Given the description of an element on the screen output the (x, y) to click on. 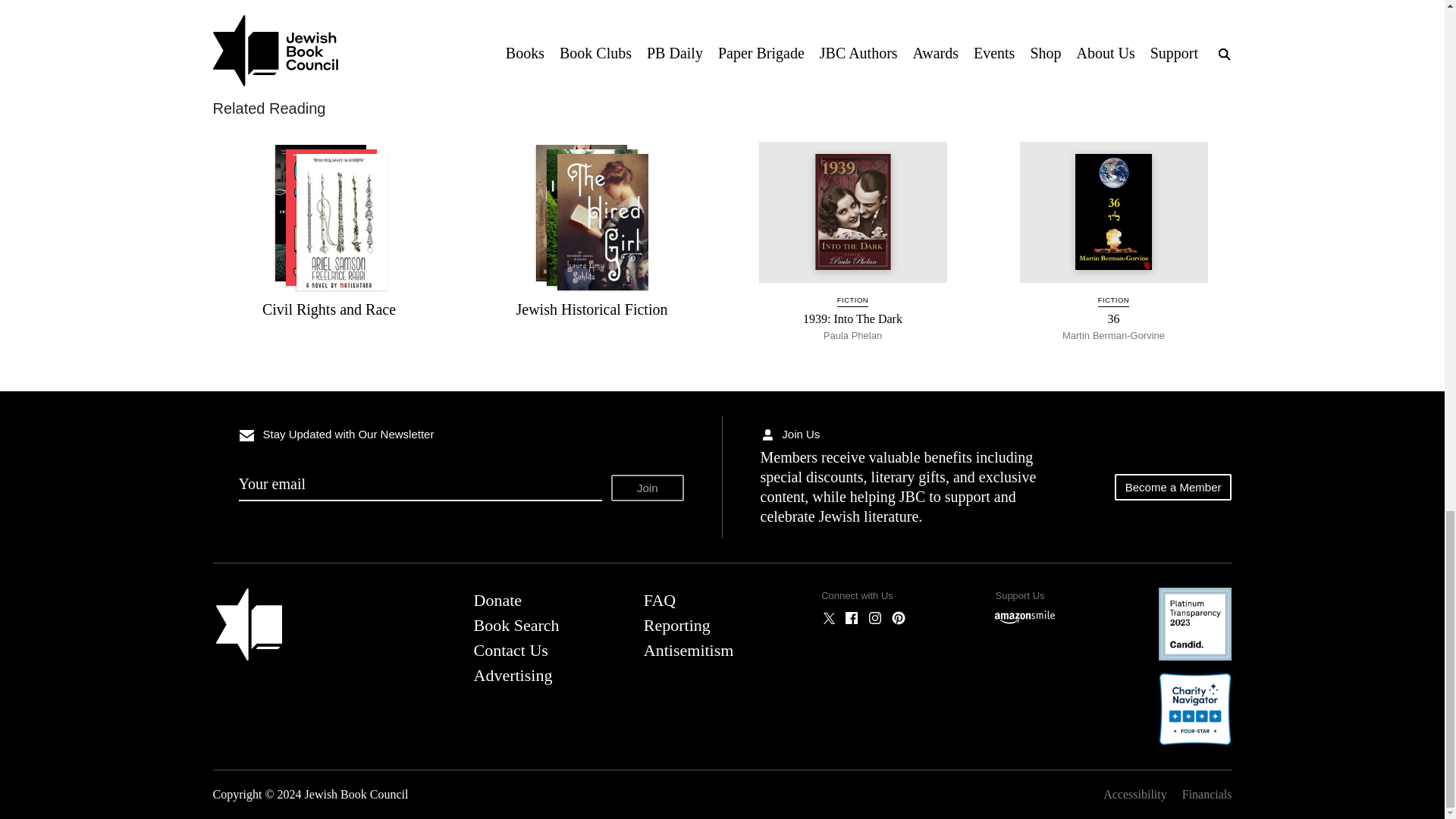
Join (647, 488)
